Given the description of an element on the screen output the (x, y) to click on. 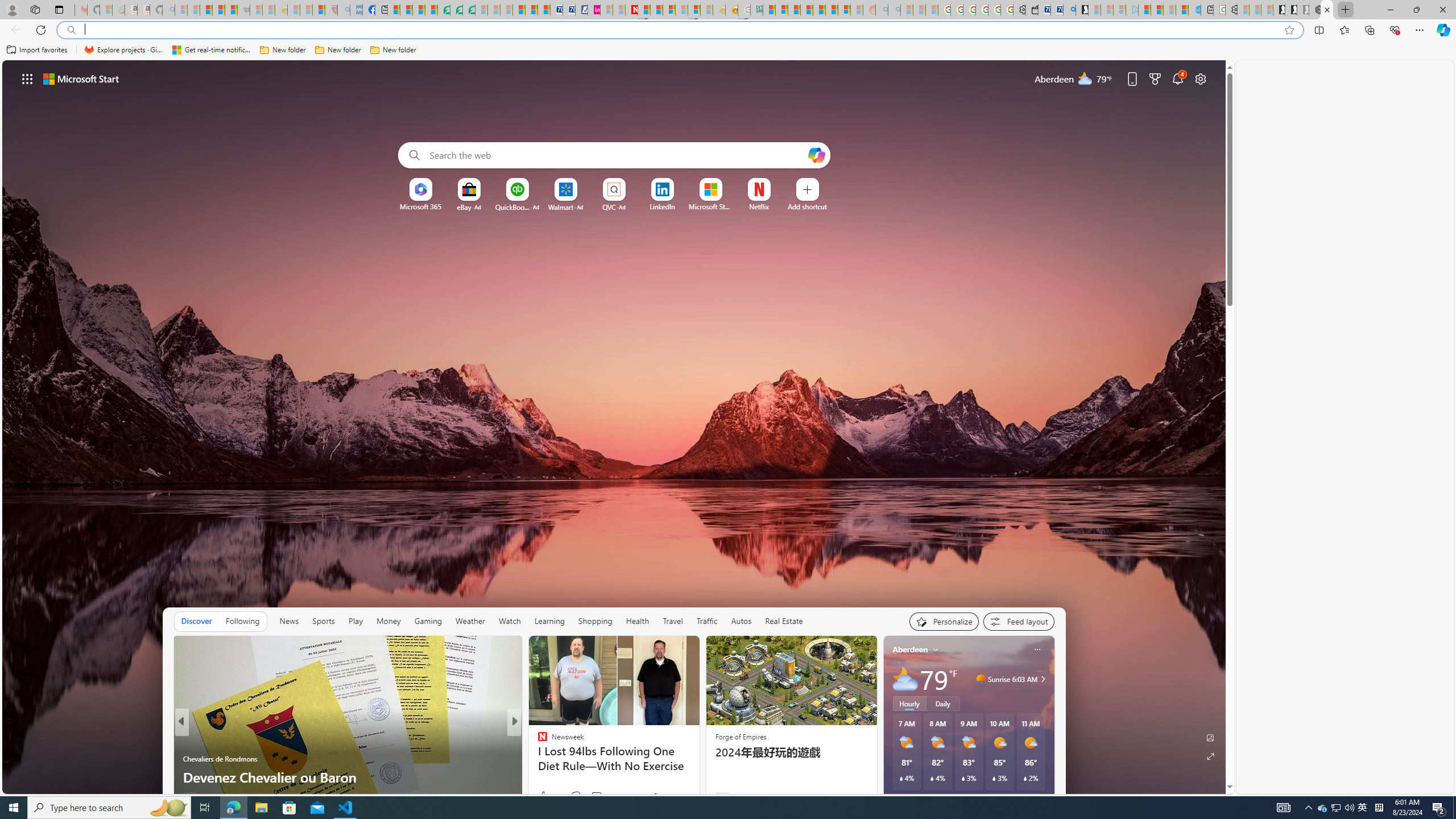
View comments 1 Comment (589, 797)
Page settings (1200, 78)
Forge of Empires (740, 736)
14 Common Myths Debunked By Scientific Facts (656, 9)
NCL Adult Asthma Inhaler Choice Guideline - Sleeping (355, 9)
View comments 73 Comment (597, 796)
21 Common Misunderstandings That Science Has Debunked (697, 767)
Favorites bar (728, 49)
To get missing image descriptions, open the context menu. (420, 189)
LendingTree - Compare Lenders (443, 9)
View comments 10 Comment (594, 796)
Cheap Hotels - Save70.com (568, 9)
